Given the description of an element on the screen output the (x, y) to click on. 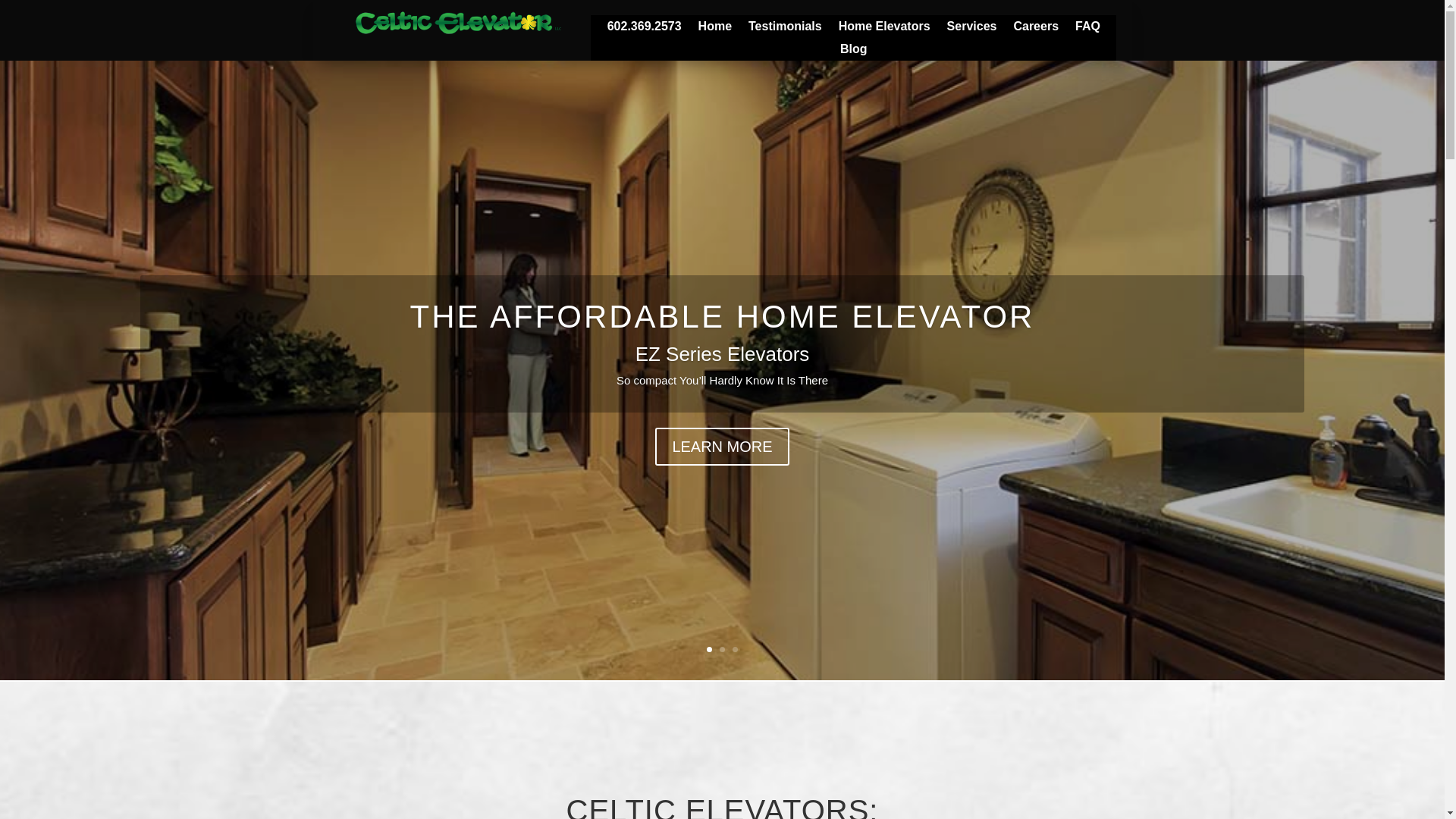
Home (715, 29)
Testimonials (785, 29)
602.369.2573 (644, 29)
Services (972, 29)
Home Elevators (884, 29)
Blog (853, 52)
Careers (1035, 29)
FAQ (1087, 29)
